Given the description of an element on the screen output the (x, y) to click on. 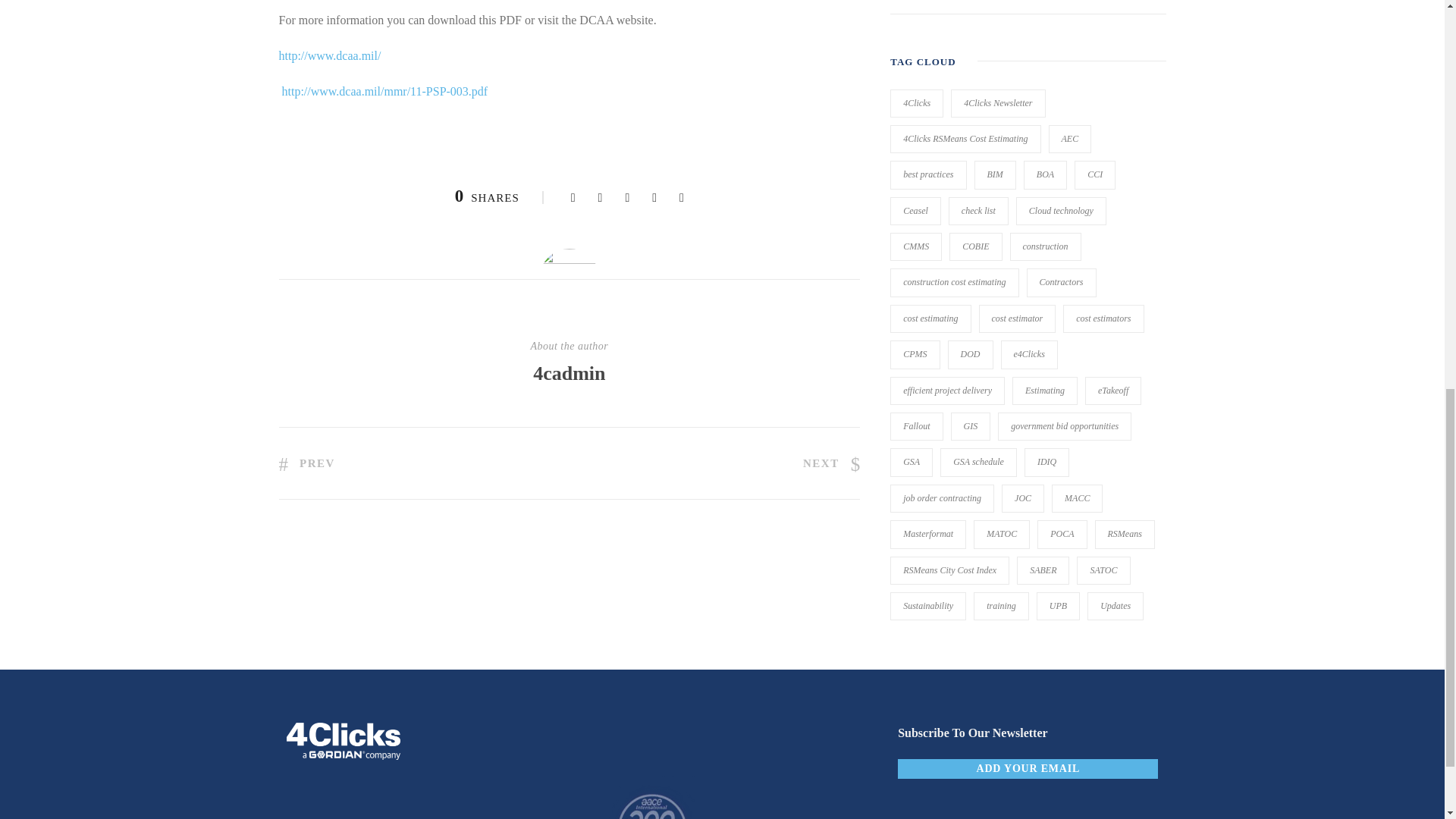
Add Your Email (1027, 768)
Posts by 4cadmin (568, 373)
